Given the description of an element on the screen output the (x, y) to click on. 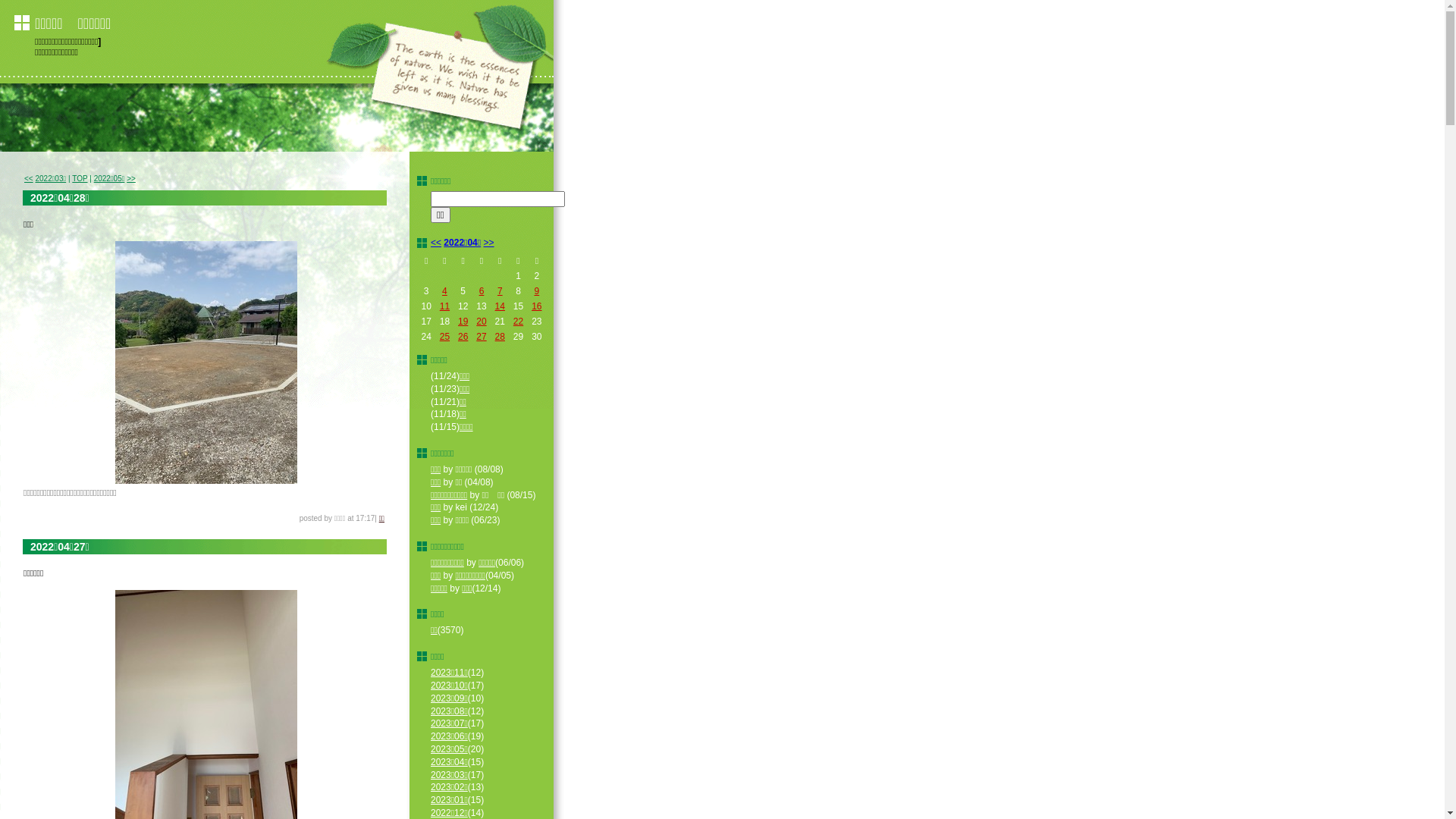
22 Element type: text (518, 321)
16 Element type: text (536, 306)
TOP Element type: text (79, 178)
19 Element type: text (462, 321)
14 Element type: text (500, 306)
6 Element type: text (481, 290)
>> Element type: text (488, 242)
7 Element type: text (499, 290)
27 Element type: text (481, 336)
11 Element type: text (444, 306)
25 Element type: text (444, 336)
28 Element type: text (500, 336)
>> Element type: text (130, 178)
<< Element type: text (435, 242)
4 Element type: text (444, 290)
9 Element type: text (536, 290)
<< Element type: text (28, 178)
26 Element type: text (462, 336)
20 Element type: text (481, 321)
